Given the description of an element on the screen output the (x, y) to click on. 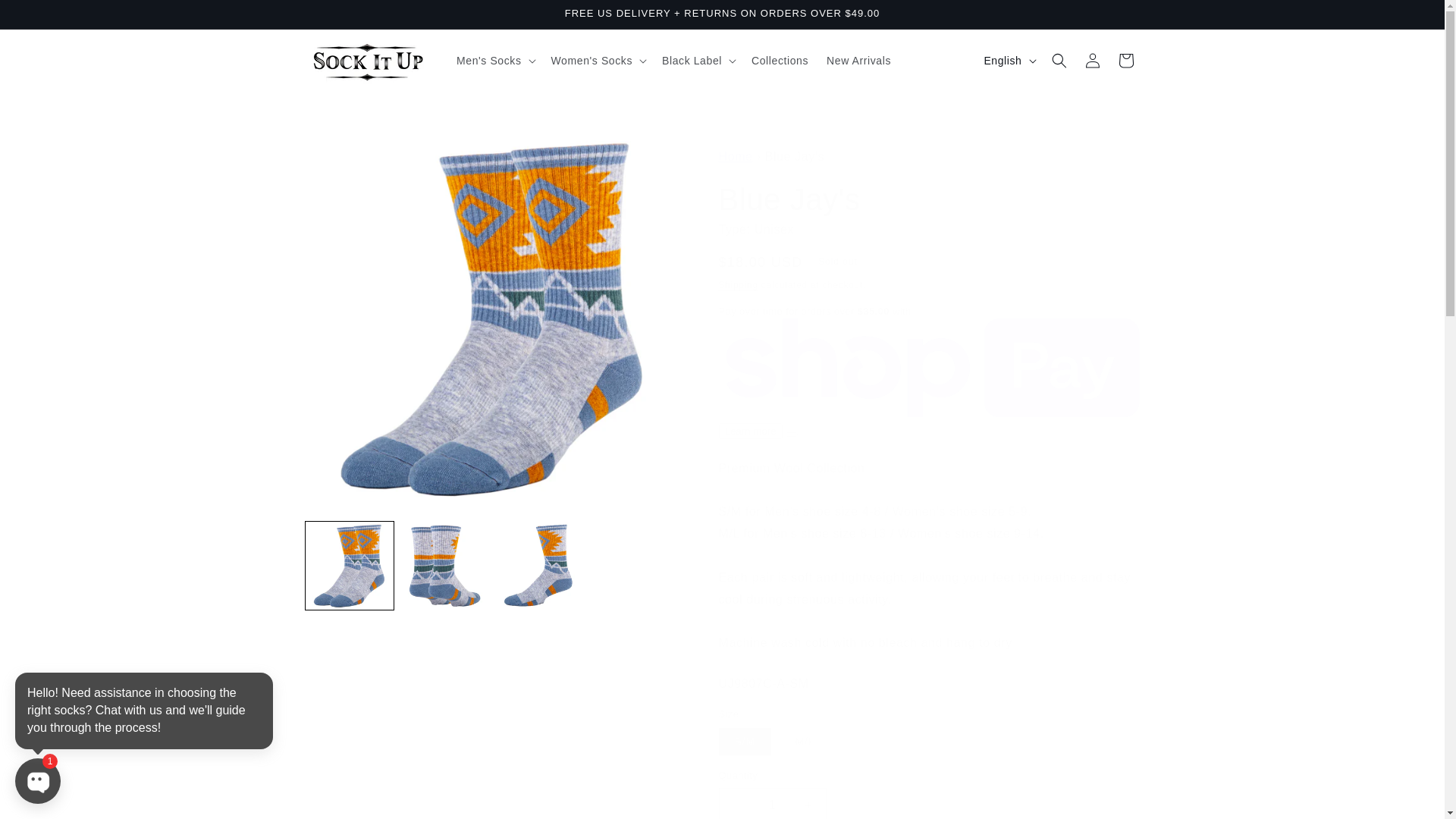
Skip to content (45, 17)
Home (735, 155)
1 (773, 803)
